Given the description of an element on the screen output the (x, y) to click on. 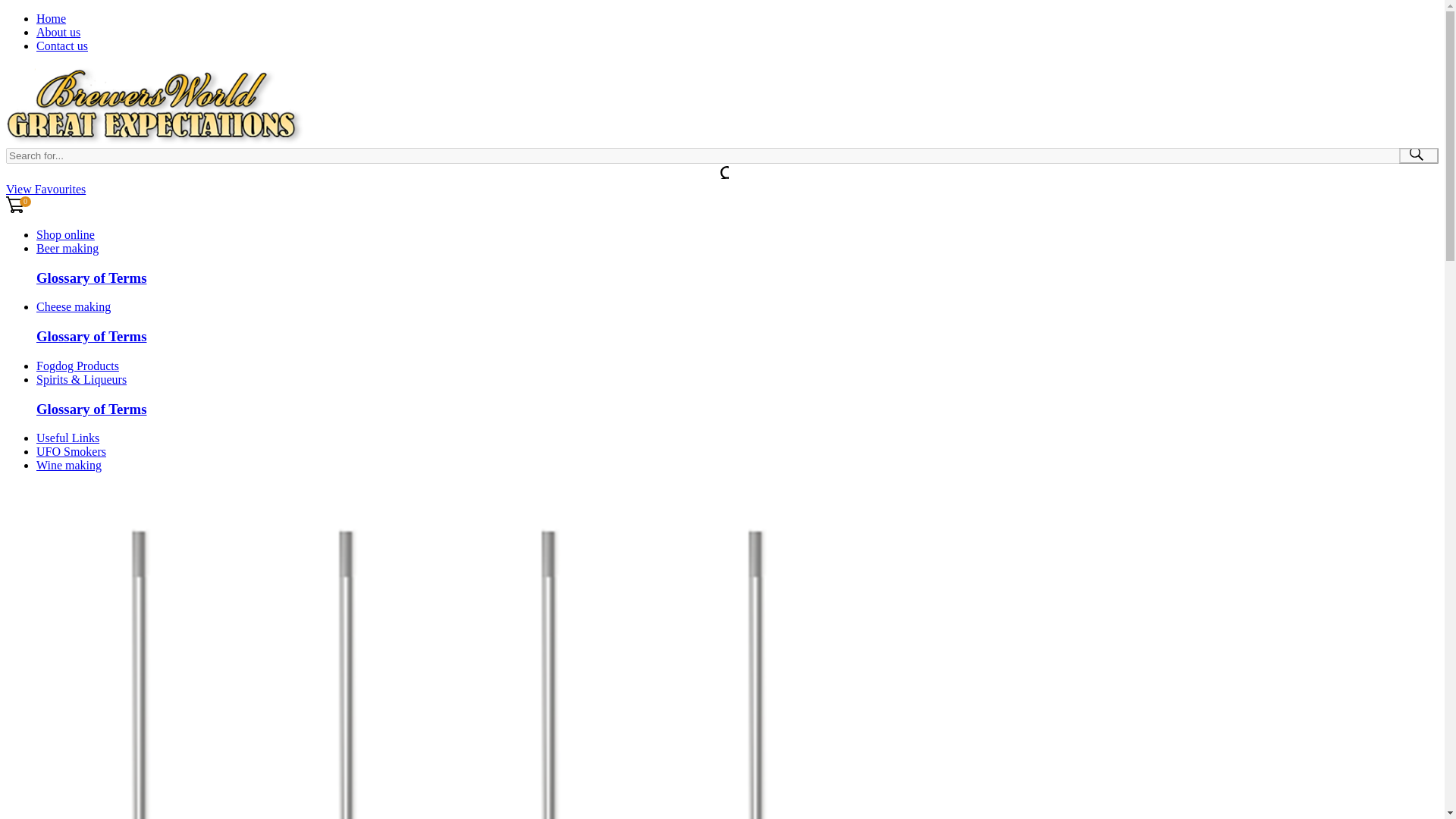
Wine making (68, 464)
Cheese making (73, 306)
Beer making (67, 247)
Login (14, 172)
About us (58, 31)
Glossary of Terms (91, 335)
Home (50, 18)
Fogdog Products (77, 365)
Glossary of Terms (91, 408)
Glossary of Terms (91, 277)
